Given the description of an element on the screen output the (x, y) to click on. 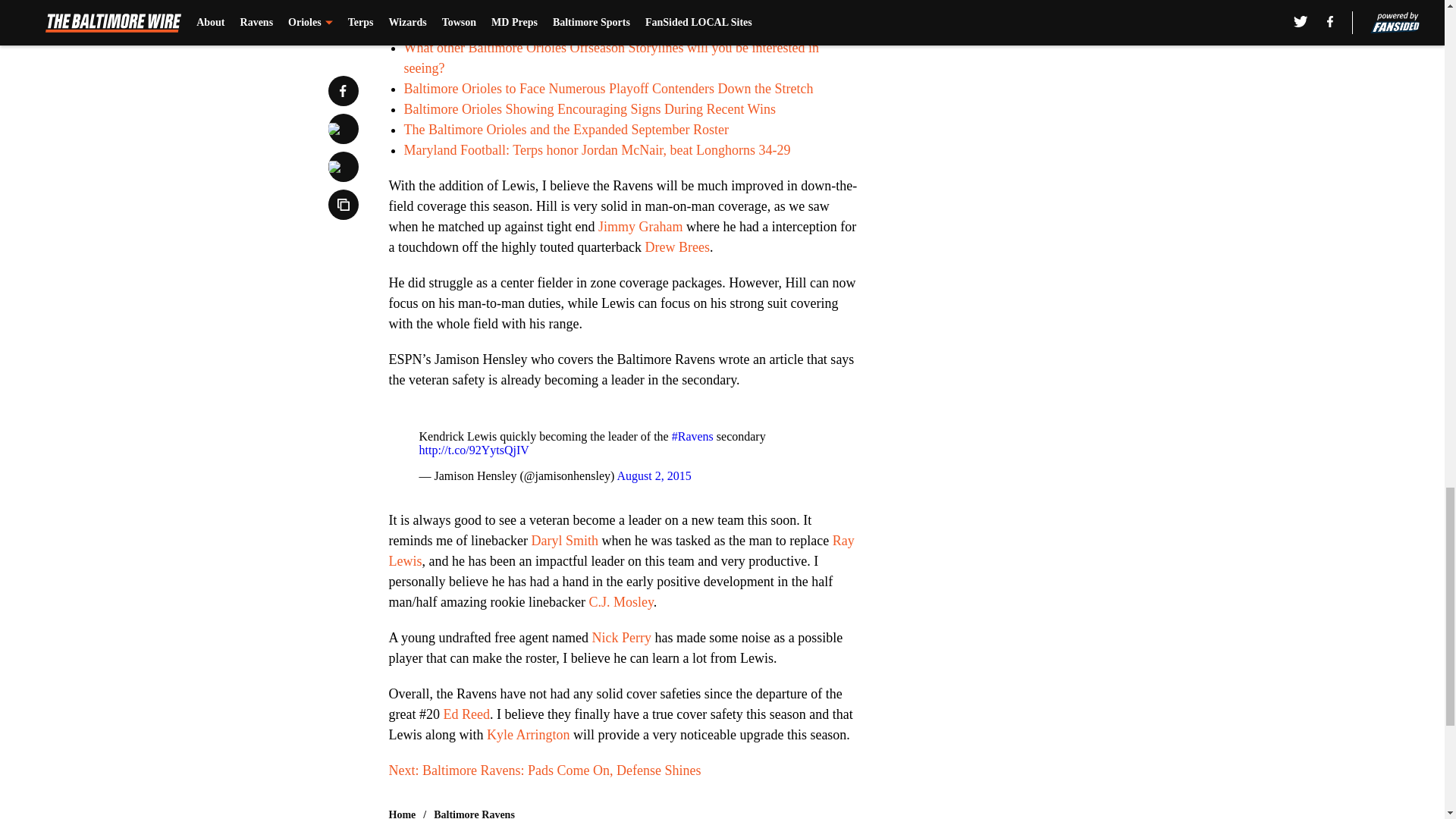
The Baltimore Orioles and the Expanded September Roster (565, 129)
August 2, 2015 (652, 475)
Jimmy Graham (640, 226)
Drew Brees (677, 246)
